Given the description of an element on the screen output the (x, y) to click on. 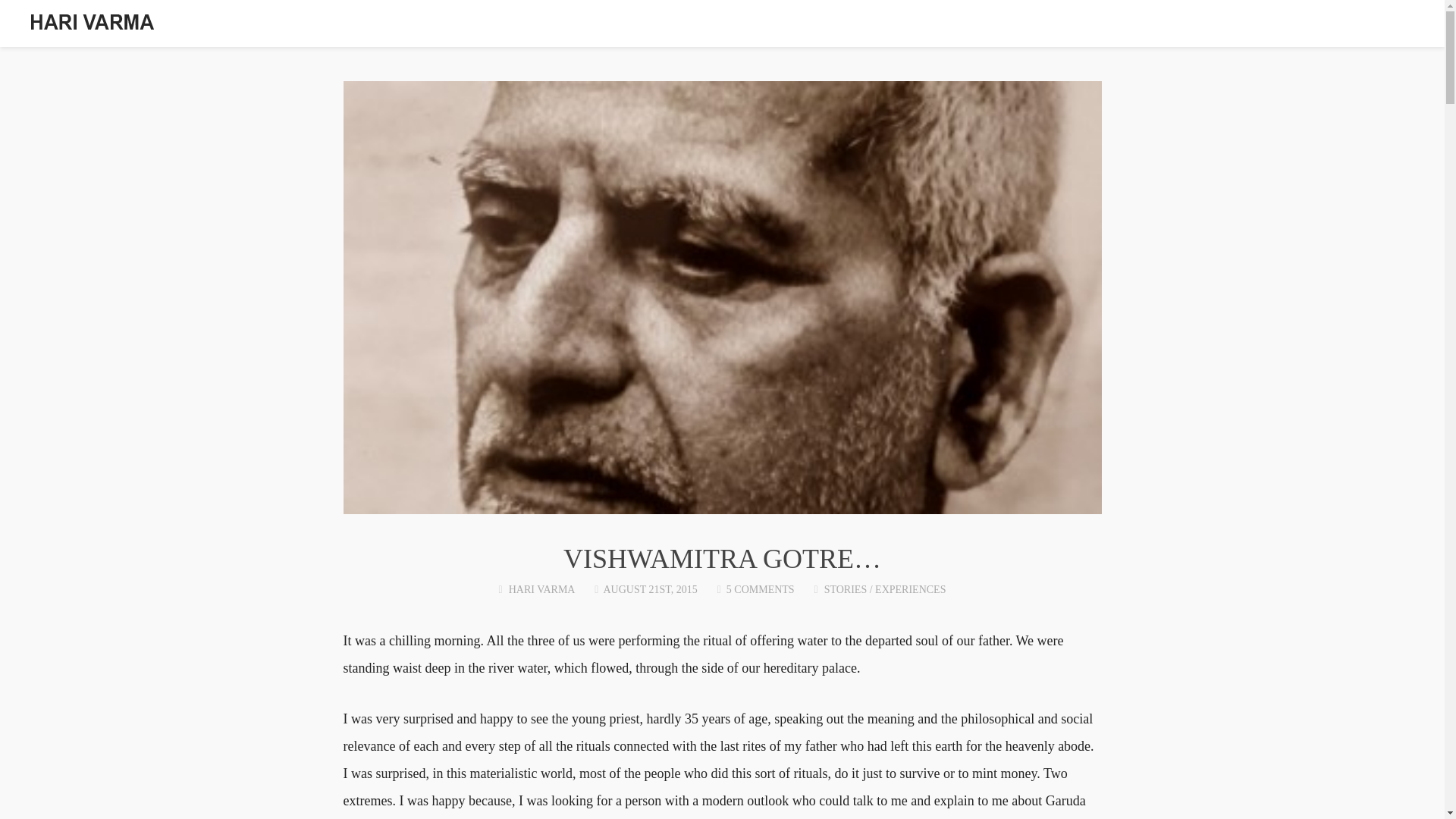
AUGUST 21ST, 2015 (649, 589)
PORTFOLIO (1211, 25)
HARI VARMA (541, 589)
LEARNINGS (1123, 25)
CONSULTANCY (754, 25)
5 COMMENTS (760, 589)
PICTURES (1294, 25)
MUSINGS (928, 25)
CONTACT (1374, 25)
KNOW ME (849, 25)
